Given the description of an element on the screen output the (x, y) to click on. 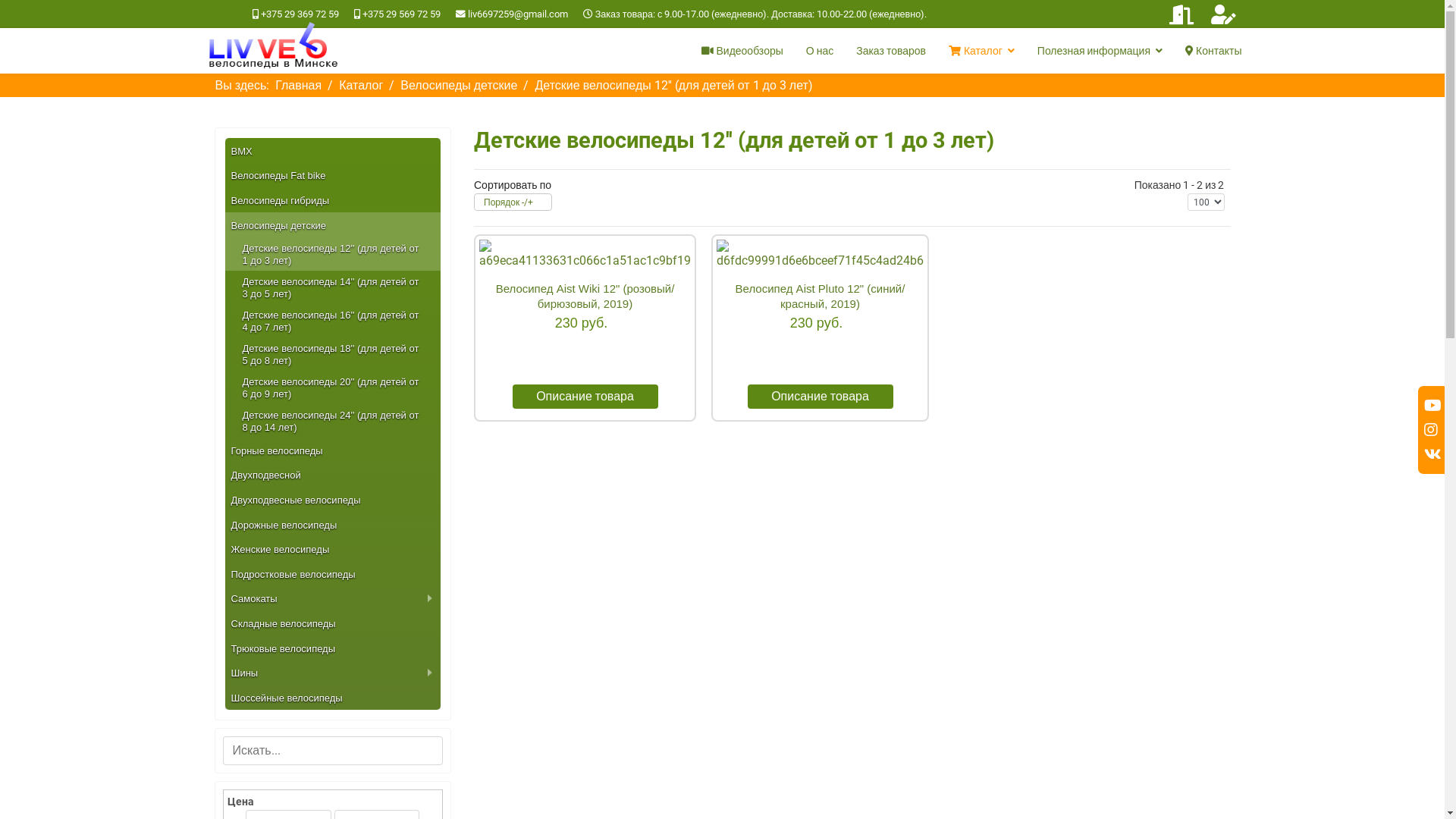
BMX Element type: text (325, 150)
+375 29 369 72 59 Element type: text (299, 13)
liv6697259@gmail.com Element type: text (517, 13)
+375 29 569 72 59 Element type: text (401, 13)
